Given the description of an element on the screen output the (x, y) to click on. 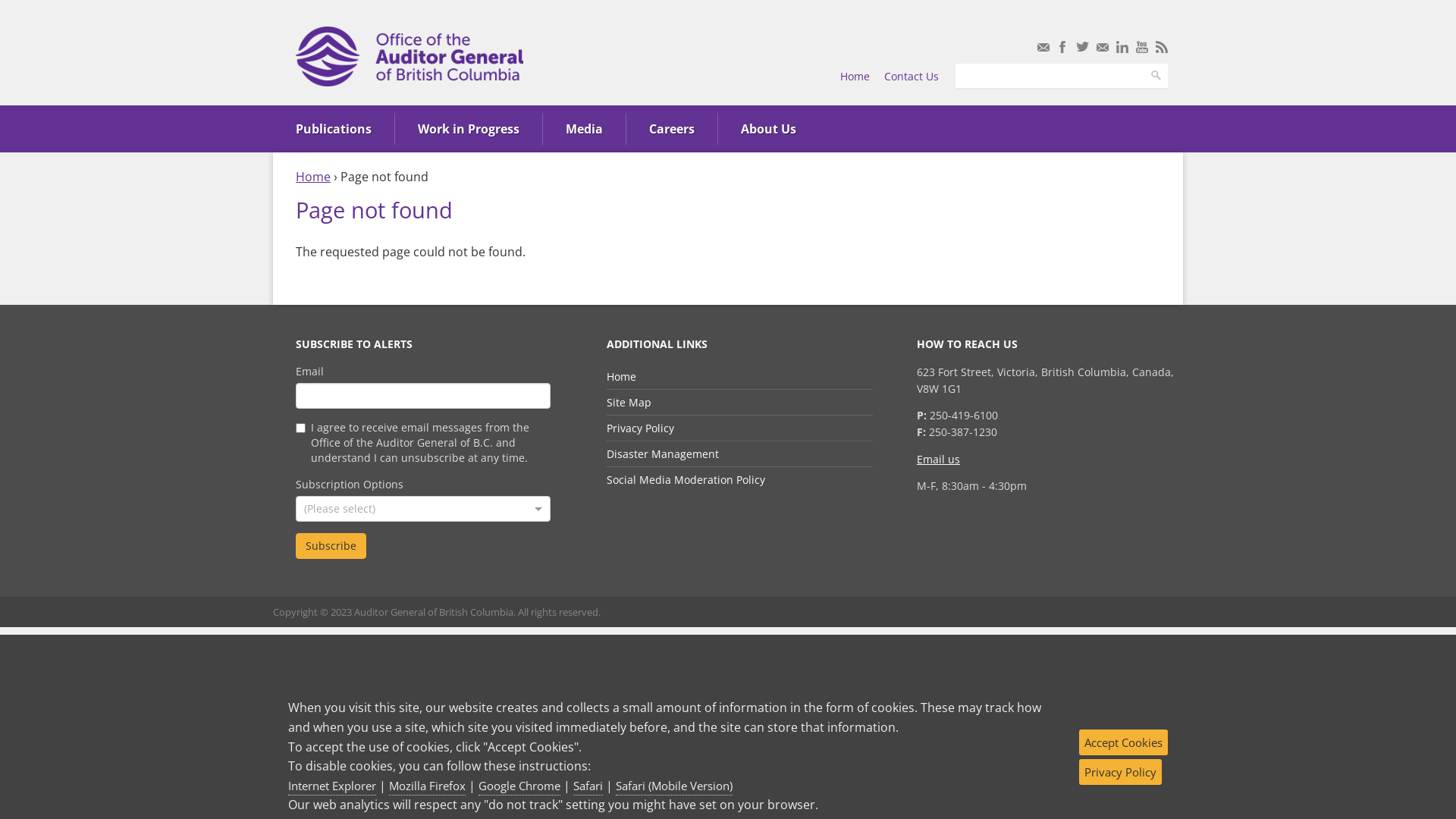
Internet Explorer Element type: text (332, 786)
Publications Element type: text (333, 128)
Join us on Facebook Element type: text (1063, 46)
Subscribe to news alerts Element type: text (1043, 46)
Disaster Management Element type: text (662, 453)
Enter the terms you wish to search for. Element type: hover (1049, 75)
Safari Element type: text (587, 786)
Media Element type: text (583, 128)
Subscribe Element type: text (330, 545)
Social Media Moderation Policy Element type: text (685, 479)
Check us out on LinkedIn Element type: text (1122, 46)
Work in Progress Element type: text (468, 128)
Home Element type: text (854, 76)
Home Element type: text (312, 176)
Email us Element type: text (938, 458)
Home Element type: text (621, 376)
Contact Us Element type: text (911, 76)
Site Map Element type: text (628, 401)
Mozilla Firefox Element type: text (427, 786)
Subscribe to us on YouTube Element type: text (1141, 46)
Google Chrome Element type: text (519, 786)
About Us Element type: text (768, 128)
Subscribe to RSS feed Element type: text (1161, 46)
Accept Cookies Element type: text (1123, 742)
Search Element type: text (1155, 75)
Privacy Policy Element type: text (1120, 771)
Find us on Instagram Element type: text (1102, 46)
Safari (Mobile Version) Element type: text (673, 786)
Careers Element type: text (671, 128)
Privacy Policy Element type: text (640, 427)
Follow us on Twitter Element type: text (1082, 46)
